Given the description of an element on the screen output the (x, y) to click on. 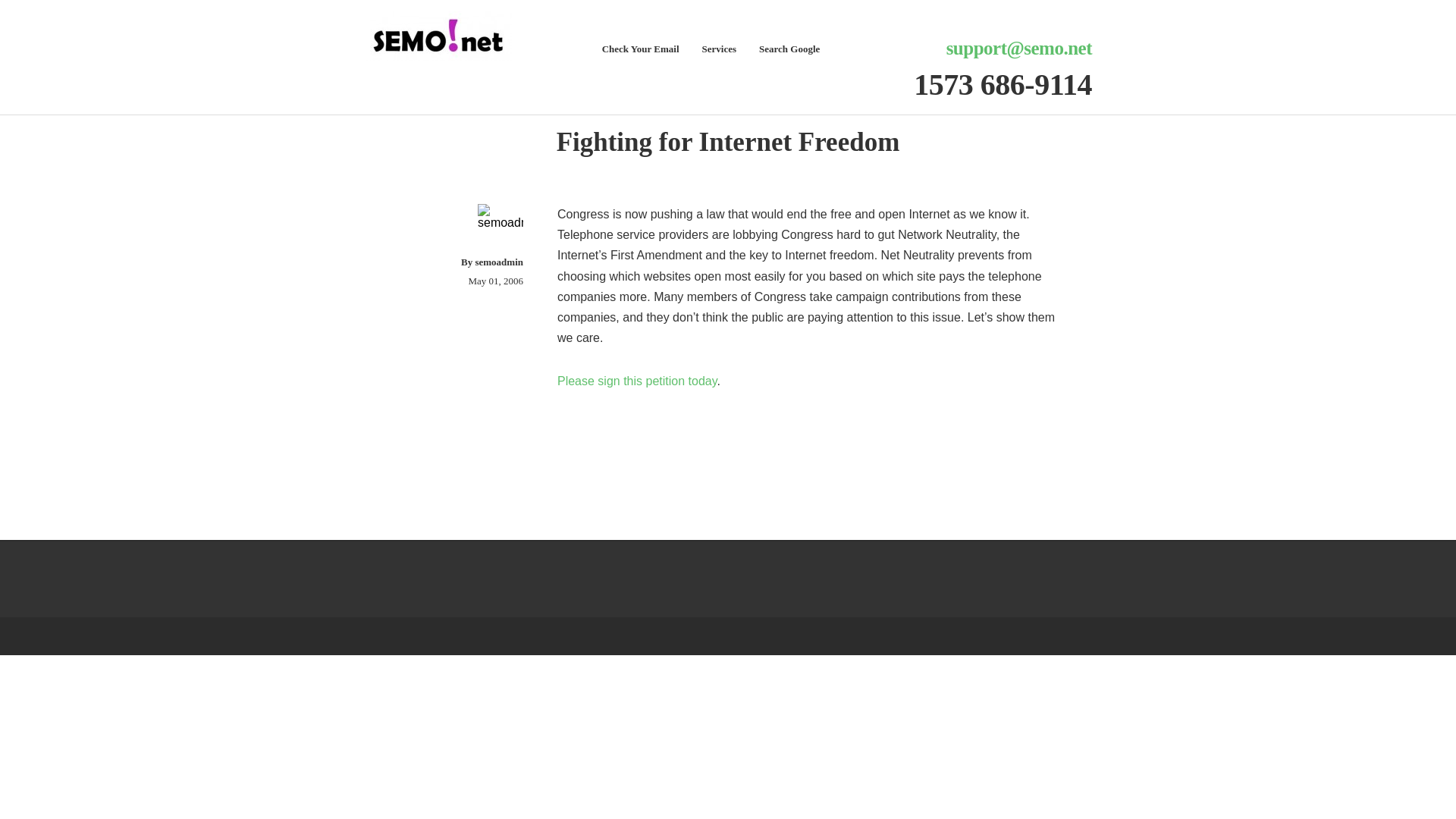
Check Your Email (640, 50)
Search Google (788, 50)
Services (718, 50)
Please sign this petition today (637, 380)
semoadmin (498, 261)
